Given the description of an element on the screen output the (x, y) to click on. 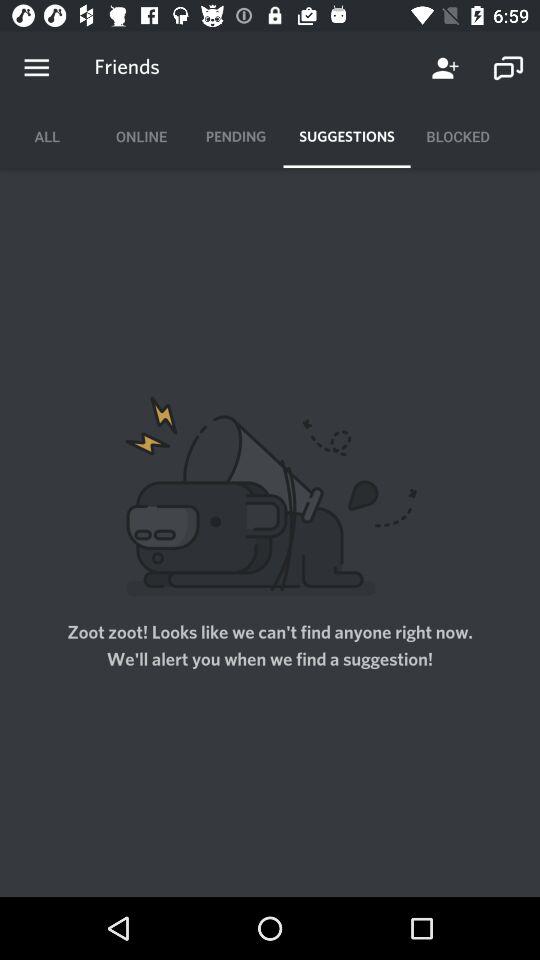
options menu (36, 68)
